Given the description of an element on the screen output the (x, y) to click on. 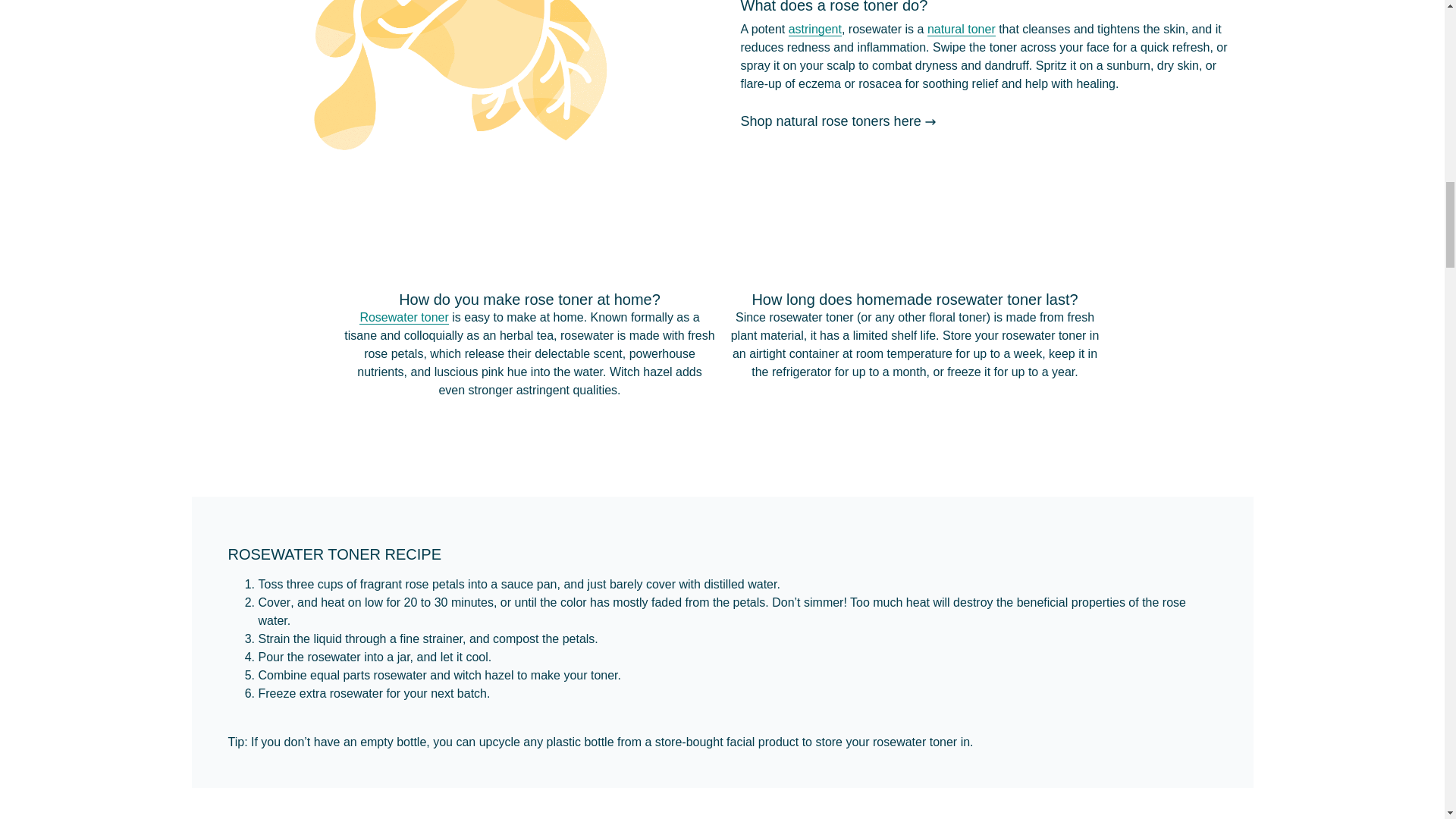
arrow (930, 121)
Rosewater toner (403, 317)
astringent (815, 29)
natural toner (961, 29)
Shop natural rose toners herearrow (839, 121)
